Given the description of an element on the screen output the (x, y) to click on. 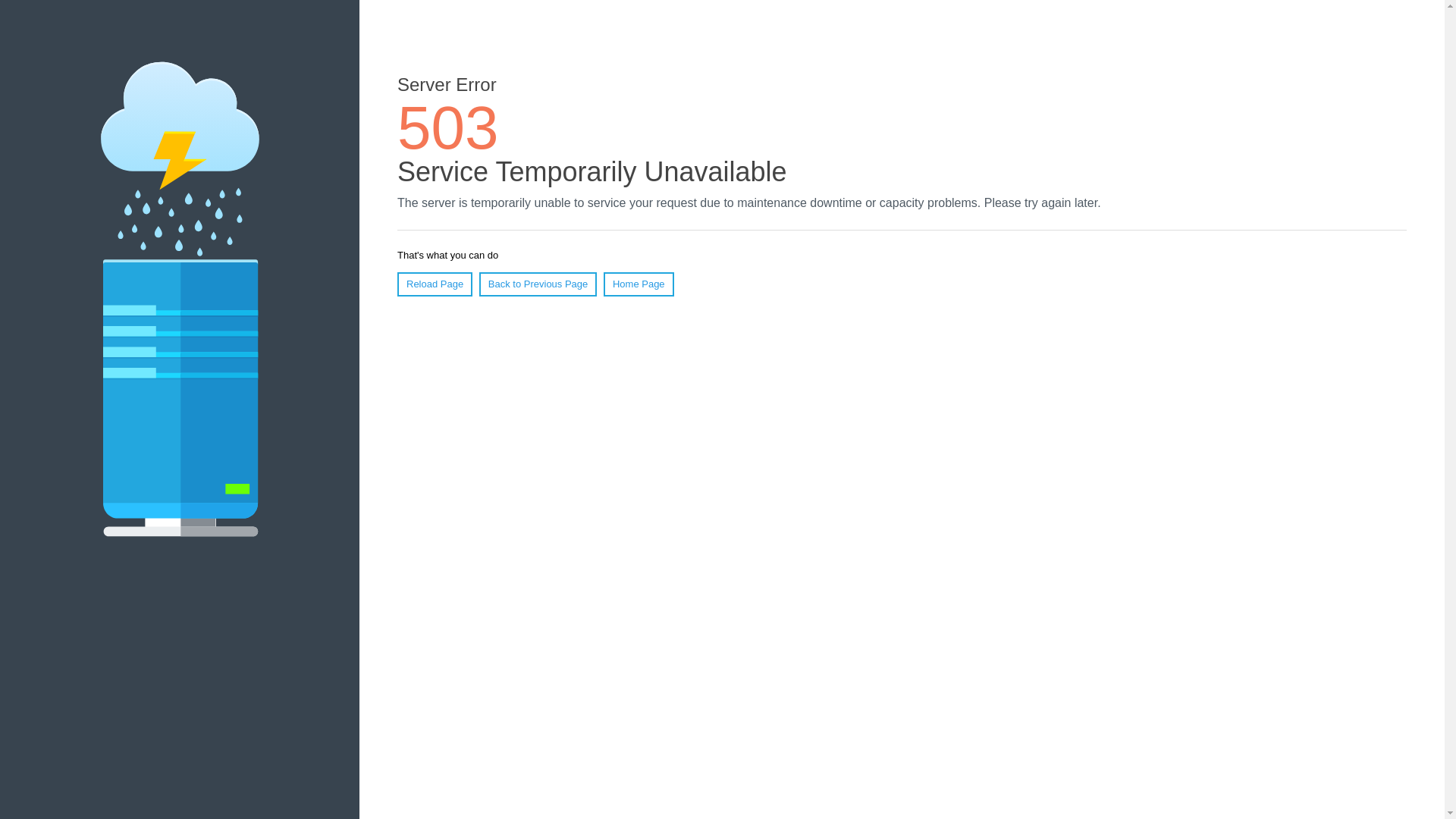
Reload Page Element type: text (434, 284)
Home Page Element type: text (638, 284)
Back to Previous Page Element type: text (538, 284)
